Given the description of an element on the screen output the (x, y) to click on. 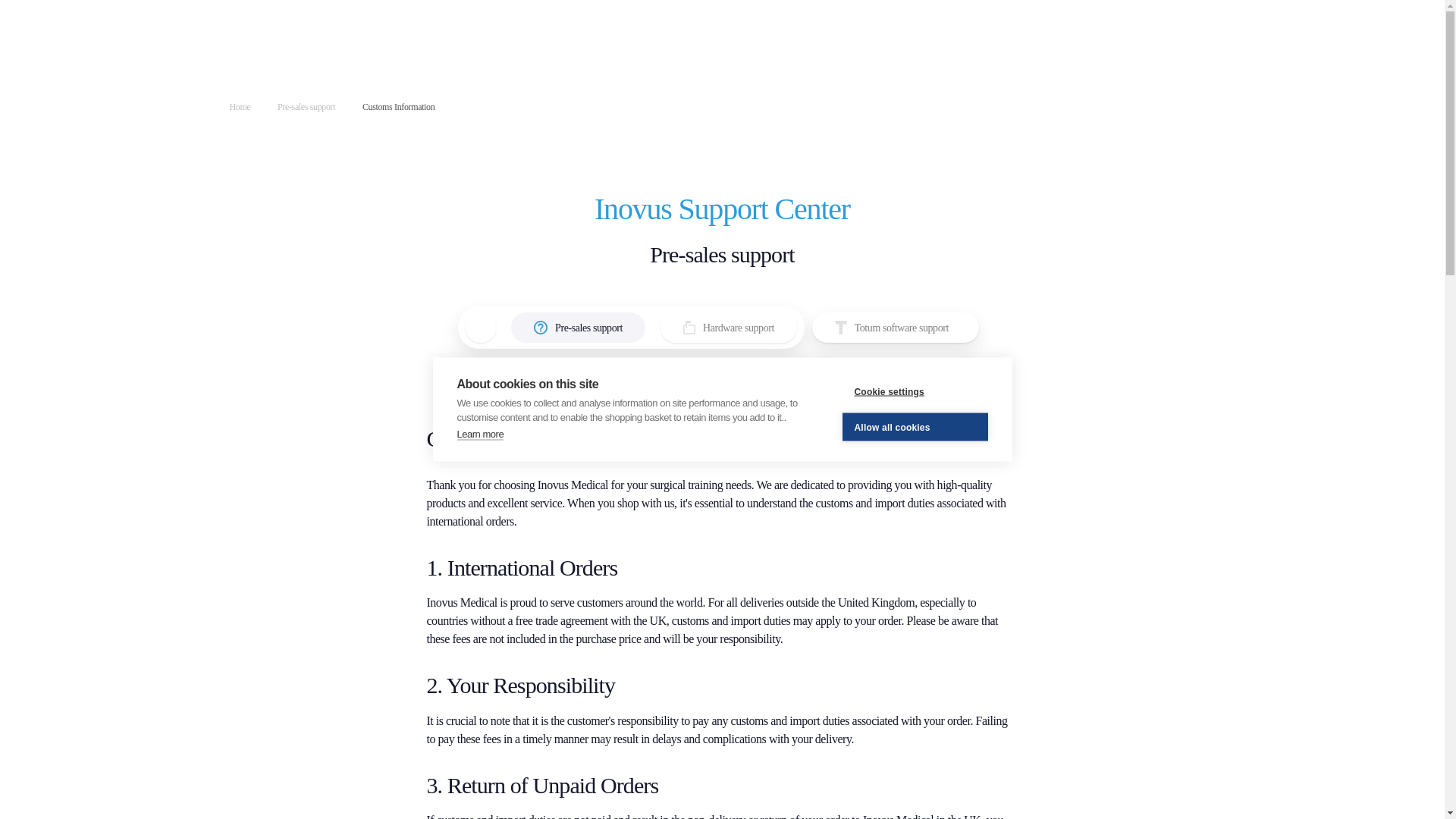
Pre-sales support (578, 327)
Pre-sales support (306, 106)
Cookie settings (914, 274)
Allow all cookies (914, 334)
Learn more (480, 297)
Hardware support (728, 327)
Home (239, 106)
Totum software support (895, 327)
